Given the description of an element on the screen output the (x, y) to click on. 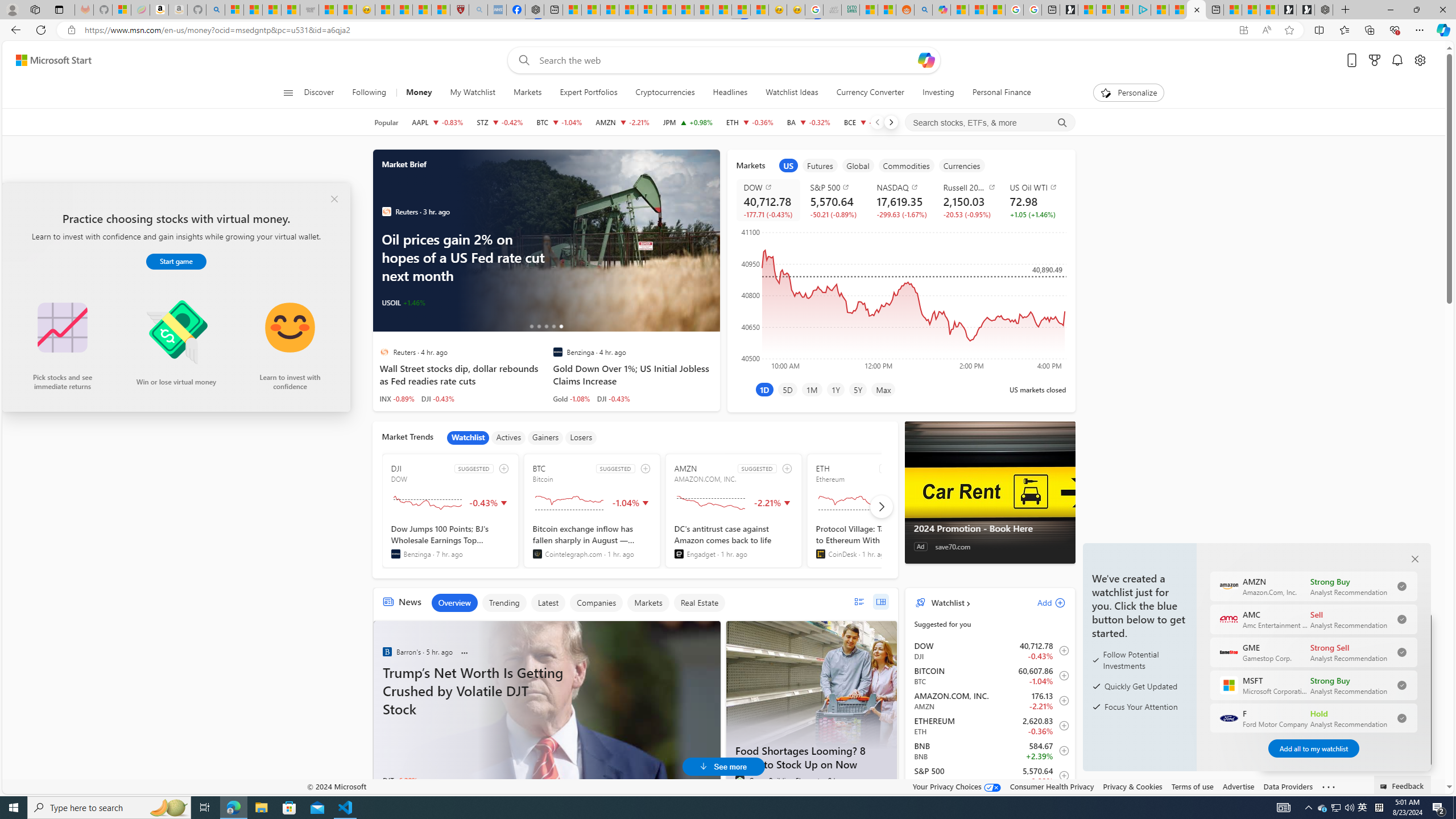
Personal Finance (1001, 92)
Your Privacy Choices (956, 786)
Play Free Online Games | Games from Microsoft Start (1305, 9)
Russell 2000 RUT decrease 2,150.03 -20.53 -0.95% (968, 200)
JPM JPMORGAN CHASE & CO. increase 216.71 +2.11 +0.98% (687, 122)
INX S&P 500 decrease 5,570.64 -50.21 -0.89% item5 (989, 775)
US Oil WTI USOIL increase 72.98 +1.05 +1.46% (1033, 200)
See more (1328, 787)
Max (882, 389)
Restore (1416, 9)
item2 (819, 164)
